Given the description of an element on the screen output the (x, y) to click on. 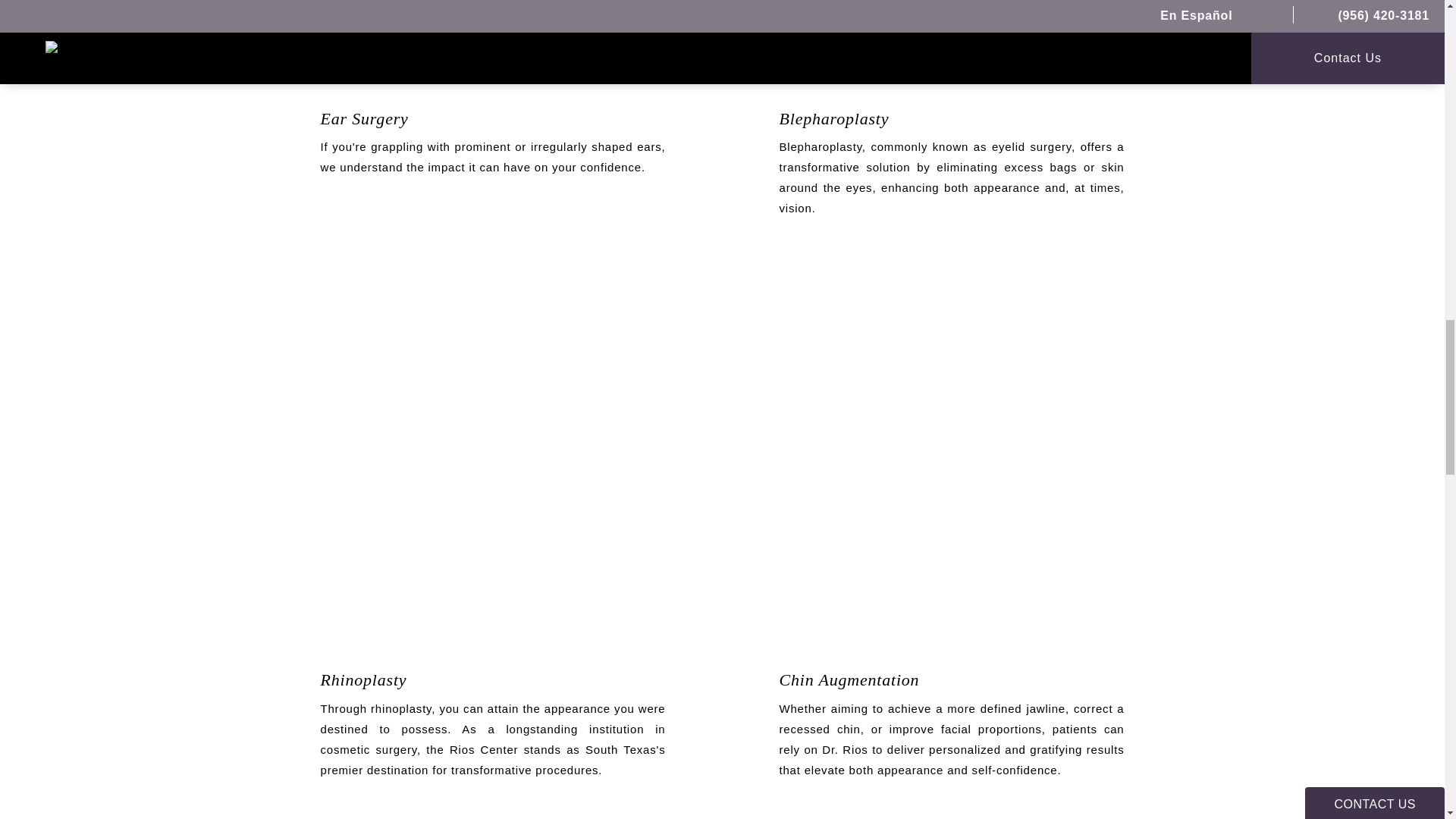
Opens Blepharoplasty page (951, 36)
Opens Ear Surgery page (492, 36)
Opens Blepharoplasty page (951, 118)
Opens Ear Surgery page (492, 118)
